Given the description of an element on the screen output the (x, y) to click on. 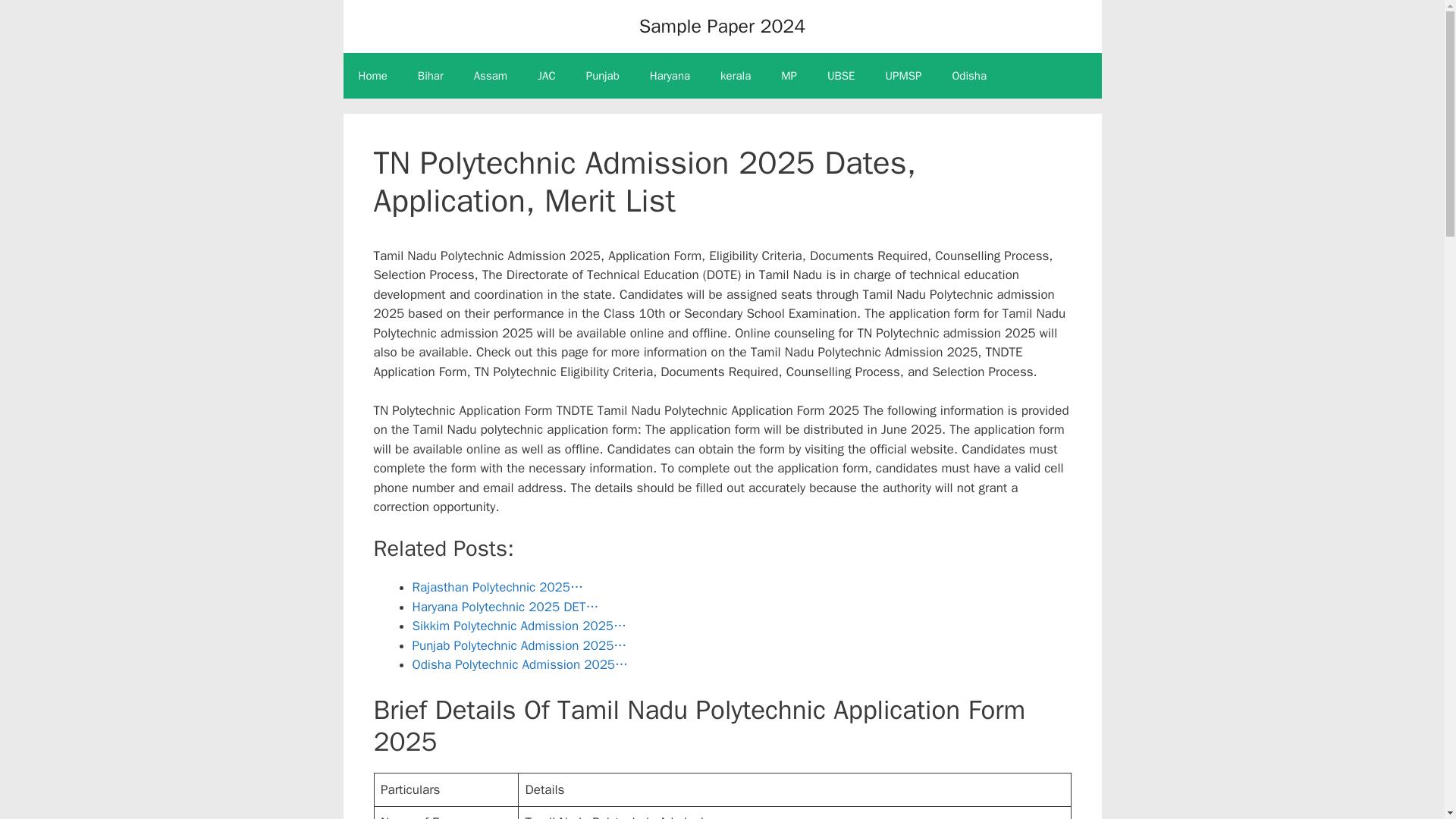
Odisha (968, 75)
UPMSP (903, 75)
JAC (546, 75)
kerala (734, 75)
Sample Paper 2024 (722, 25)
UBSE (841, 75)
Haryana (669, 75)
Punjab (602, 75)
MP (788, 75)
Bihar (430, 75)
Assam (490, 75)
Home (371, 75)
